Given the description of an element on the screen output the (x, y) to click on. 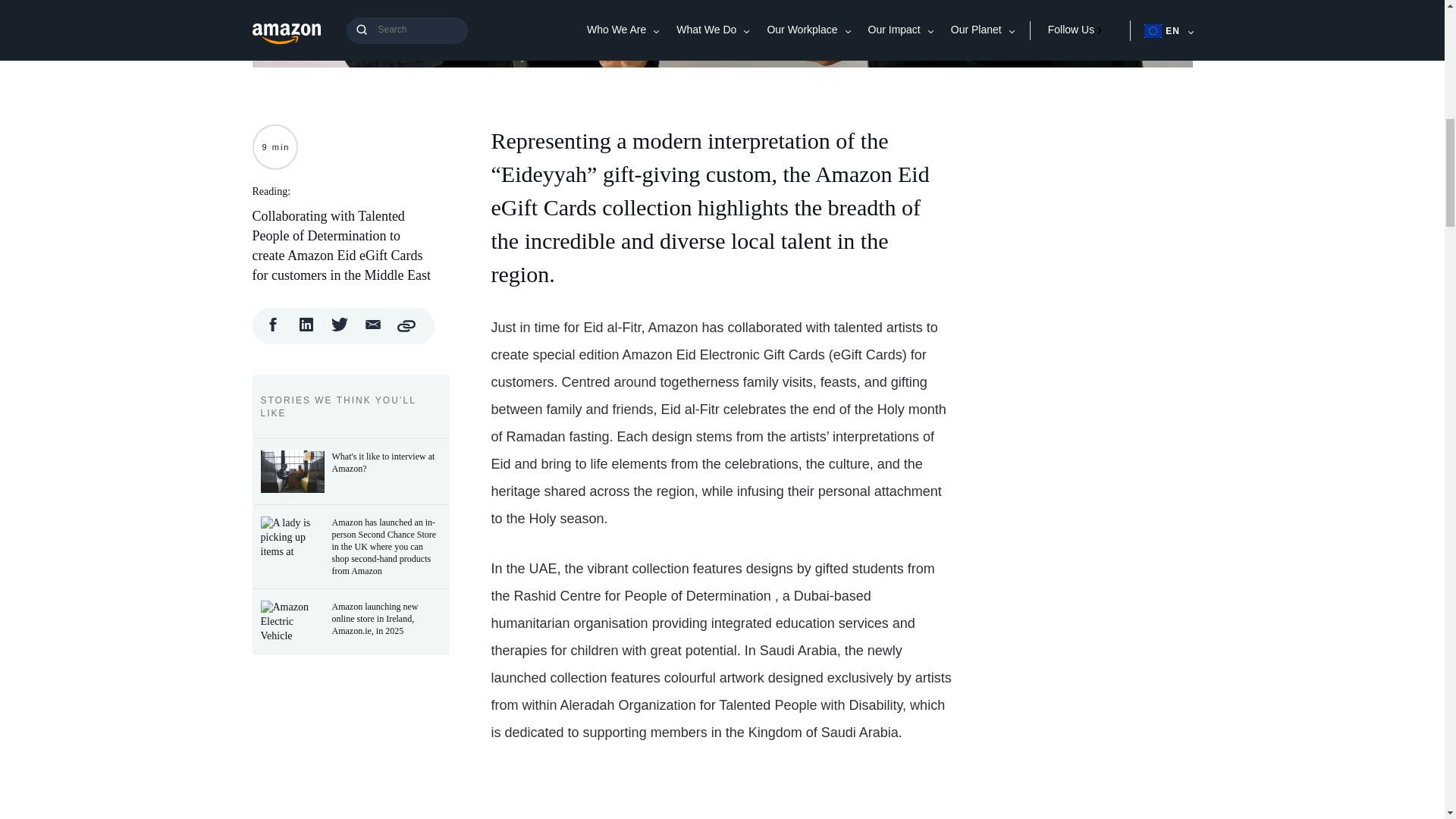
Email Share (372, 328)
Facebook Share (272, 328)
LinkedIn Share (306, 328)
Twitter Share (339, 328)
